Given the description of an element on the screen output the (x, y) to click on. 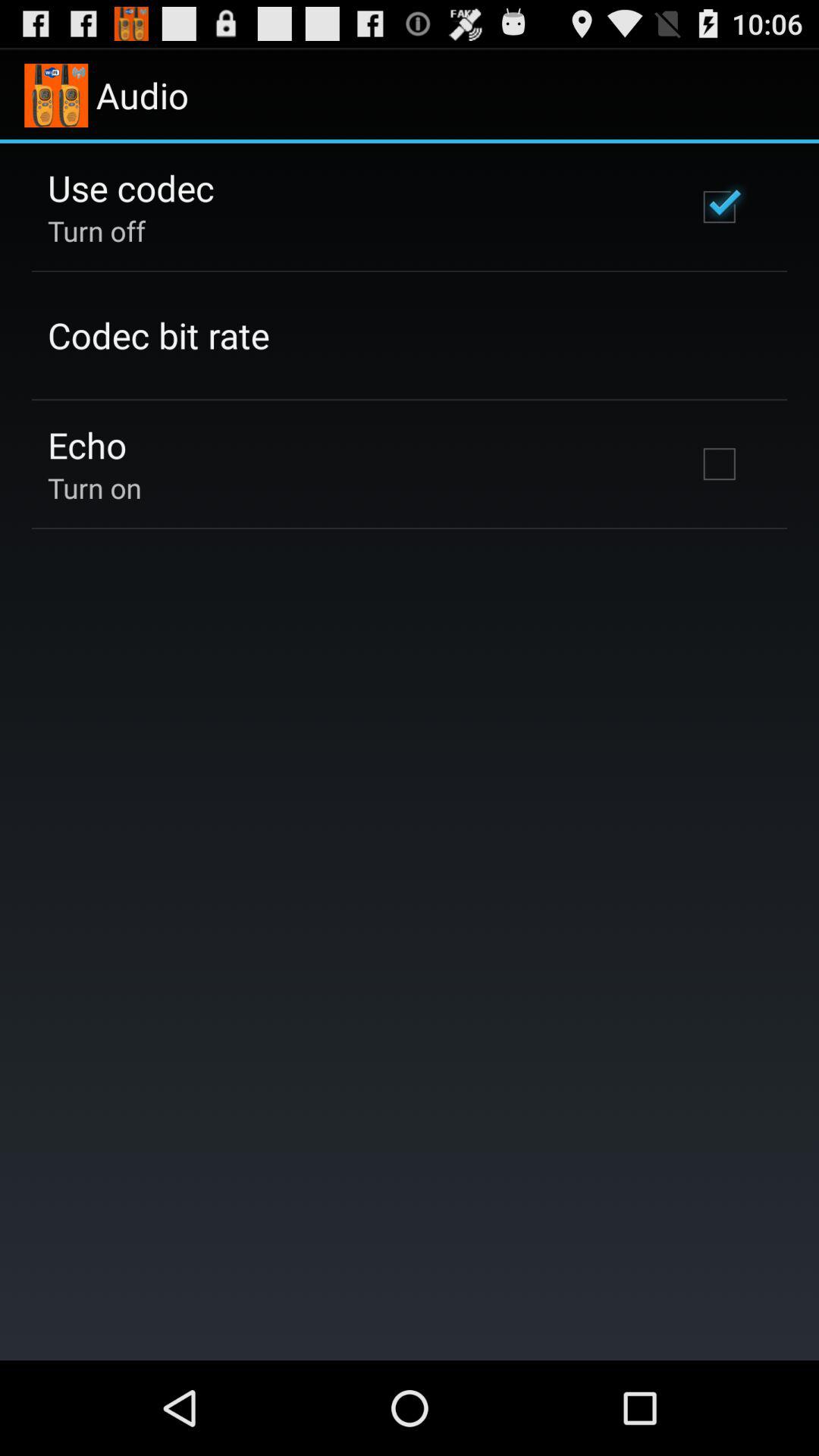
turn off item below the use codec app (96, 230)
